Given the description of an element on the screen output the (x, y) to click on. 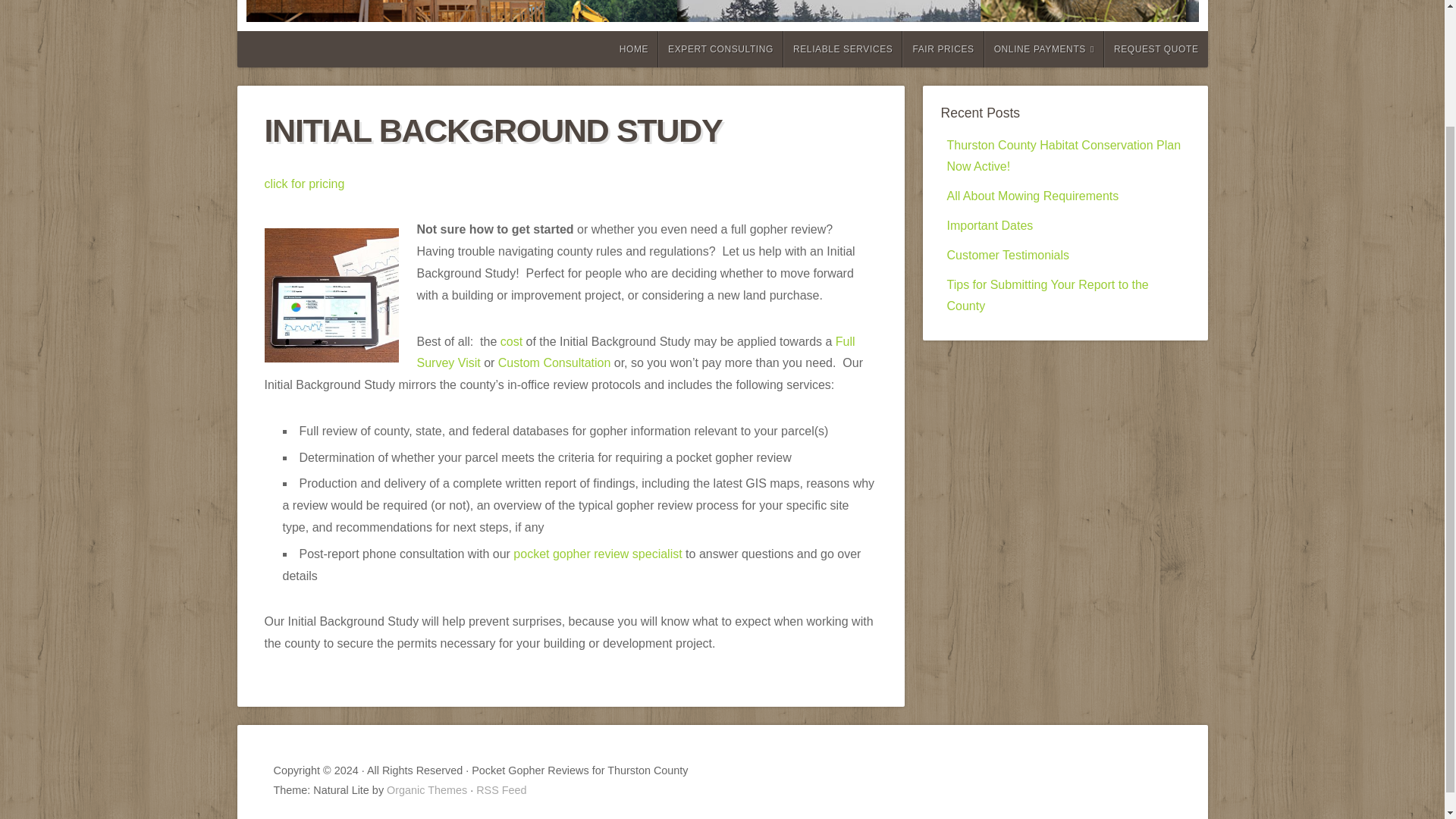
Custom Consultation (554, 362)
cost (511, 340)
RSS Feed (500, 789)
ONLINE PAYMENTS (1043, 49)
Thurston County Habitat Conservation Plan Now Active! (1063, 155)
FAIR PRICES (943, 49)
Organic Themes (427, 789)
All About Mowing Requirements (1032, 195)
RELIABLE SERVICES (842, 49)
POCKET GOPHER REVIEWS FOR THURSTON COUNTY (811, 6)
Tips for Submitting Your Report to the County (1047, 295)
Important Dates (989, 225)
click for pricing (303, 183)
Full Survey Visit (636, 351)
pocket gopher review specialist (597, 553)
